Given the description of an element on the screen output the (x, y) to click on. 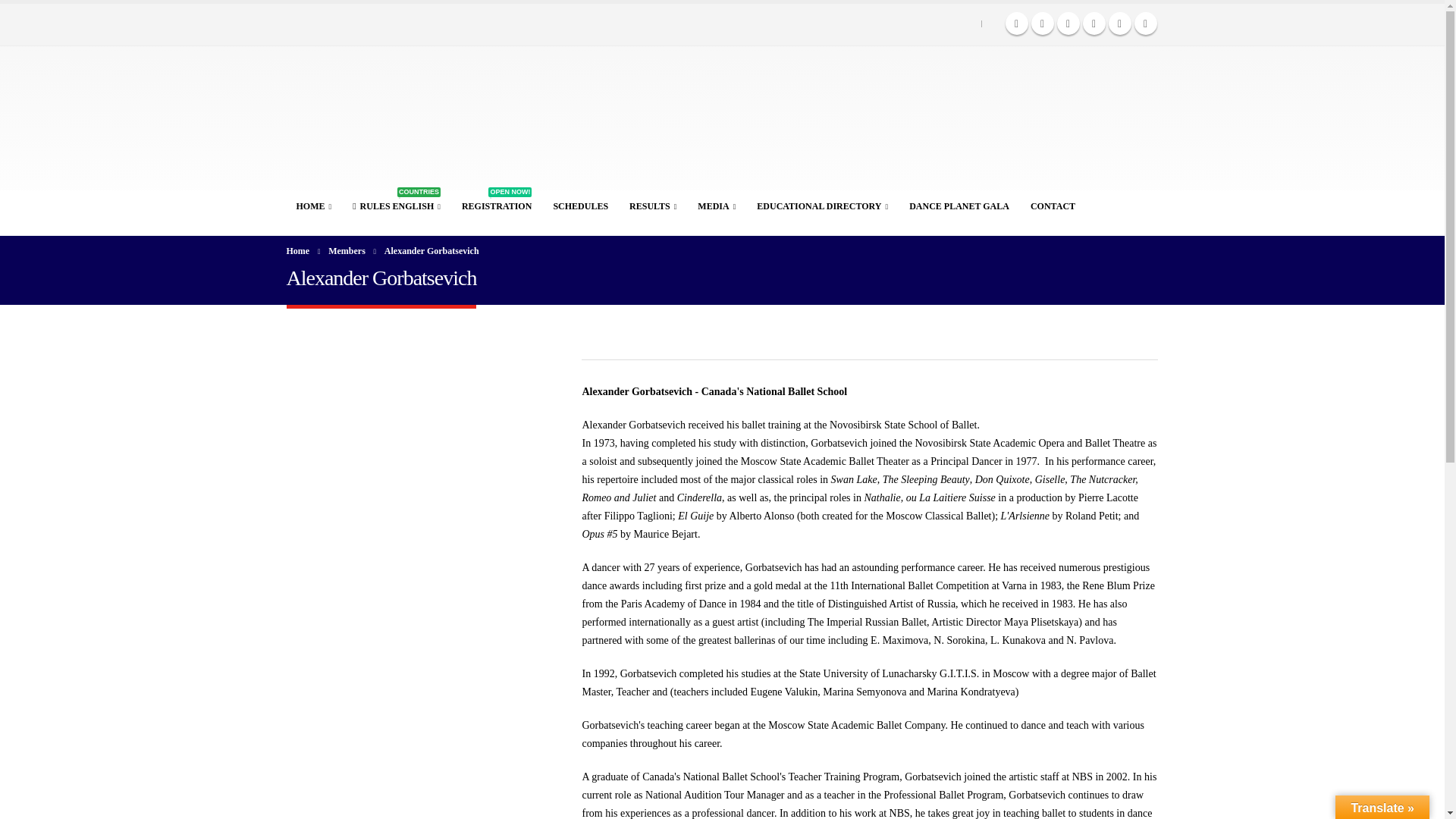
Home (298, 250)
SCHEDULES (580, 205)
HOME (314, 205)
Instagram (1094, 23)
Twitter (1042, 23)
Facebook (395, 205)
CONTACT (1016, 23)
RESULTS (1052, 205)
World Ballet Art Competition - Ballet Competition (652, 205)
Youtube (721, 118)
EDUCATIONAL DIRECTORY (1068, 23)
LinkedIn (822, 205)
DANCE PLANET GALA (1119, 23)
Members (959, 205)
